Given the description of an element on the screen output the (x, y) to click on. 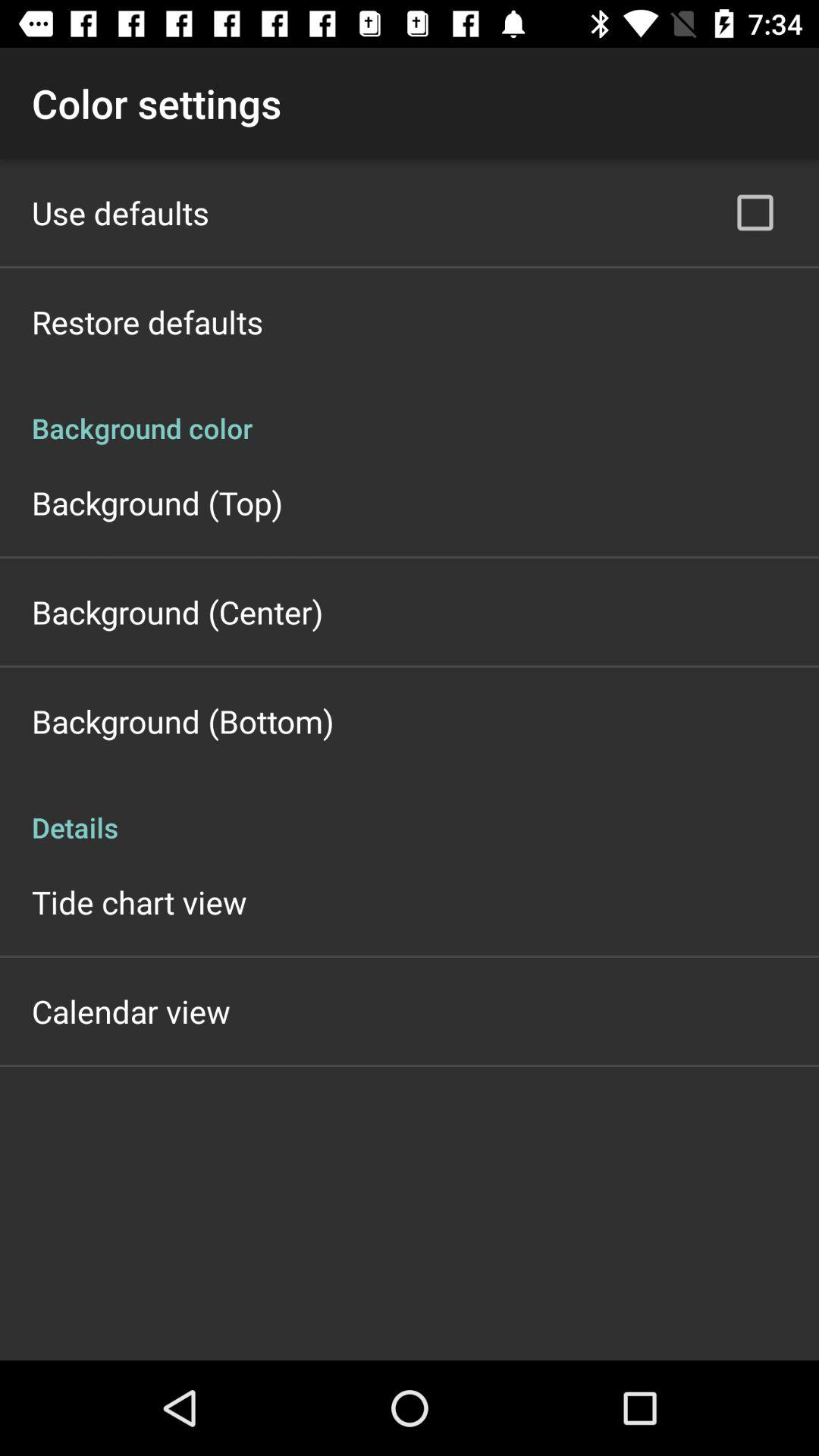
turn on the item below the use defaults app (147, 321)
